Given the description of an element on the screen output the (x, y) to click on. 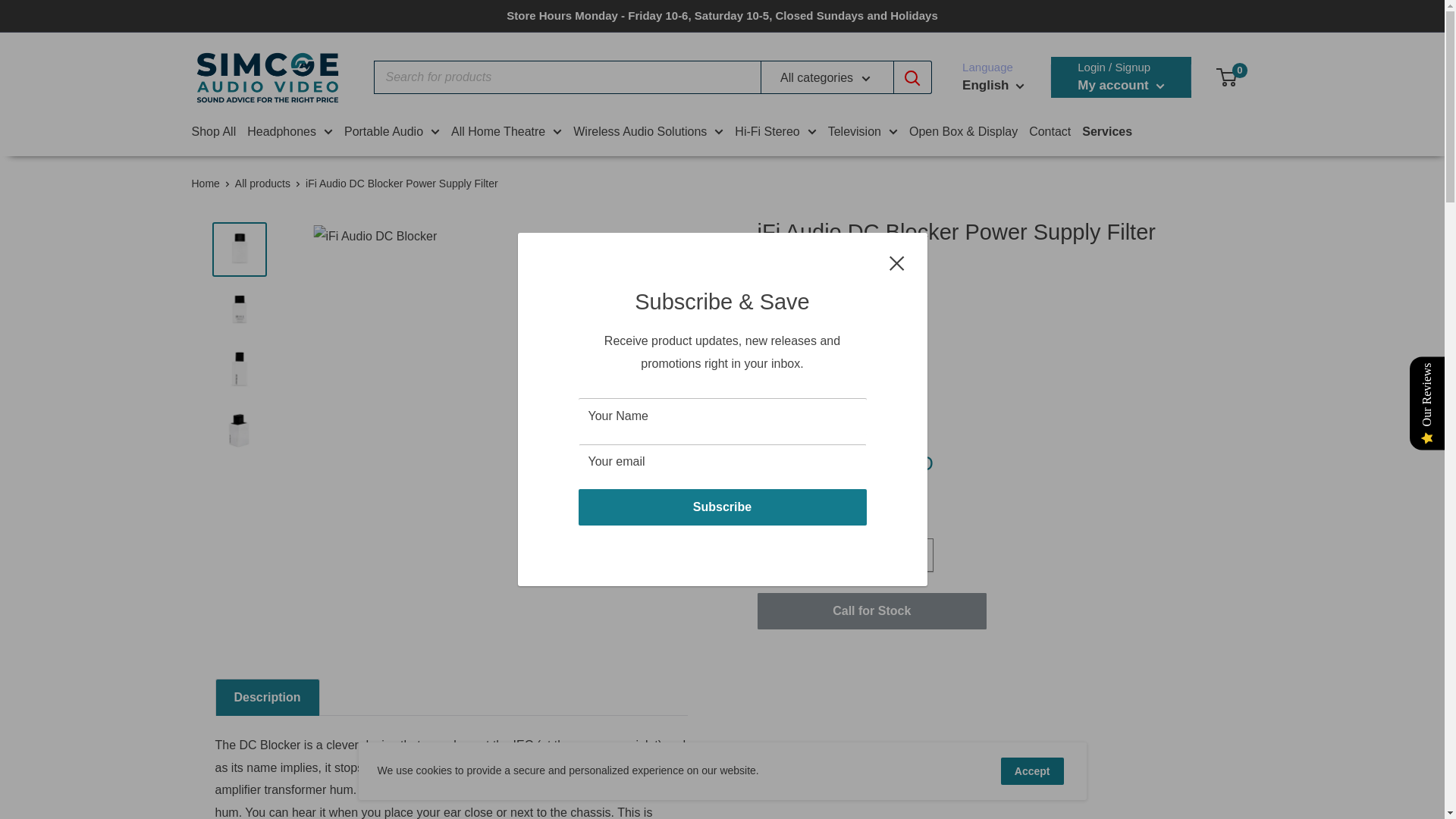
Decrease quantity by 1 (836, 554)
1 (876, 554)
Default Title (768, 419)
Subscribe (722, 506)
Increase quantity by 1 (917, 554)
